Given the description of an element on the screen output the (x, y) to click on. 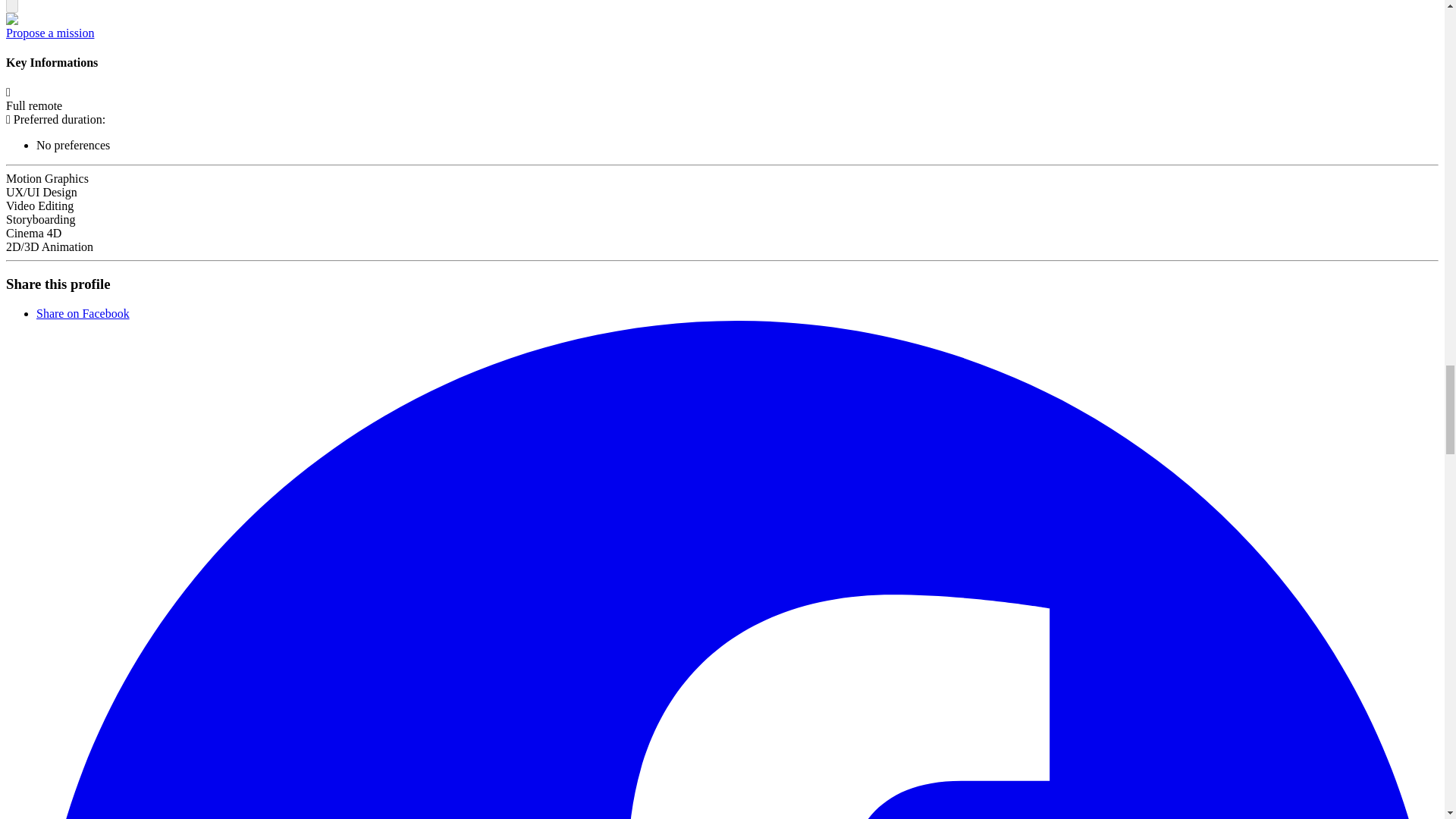
Propose a mission (49, 32)
